Given the description of an element on the screen output the (x, y) to click on. 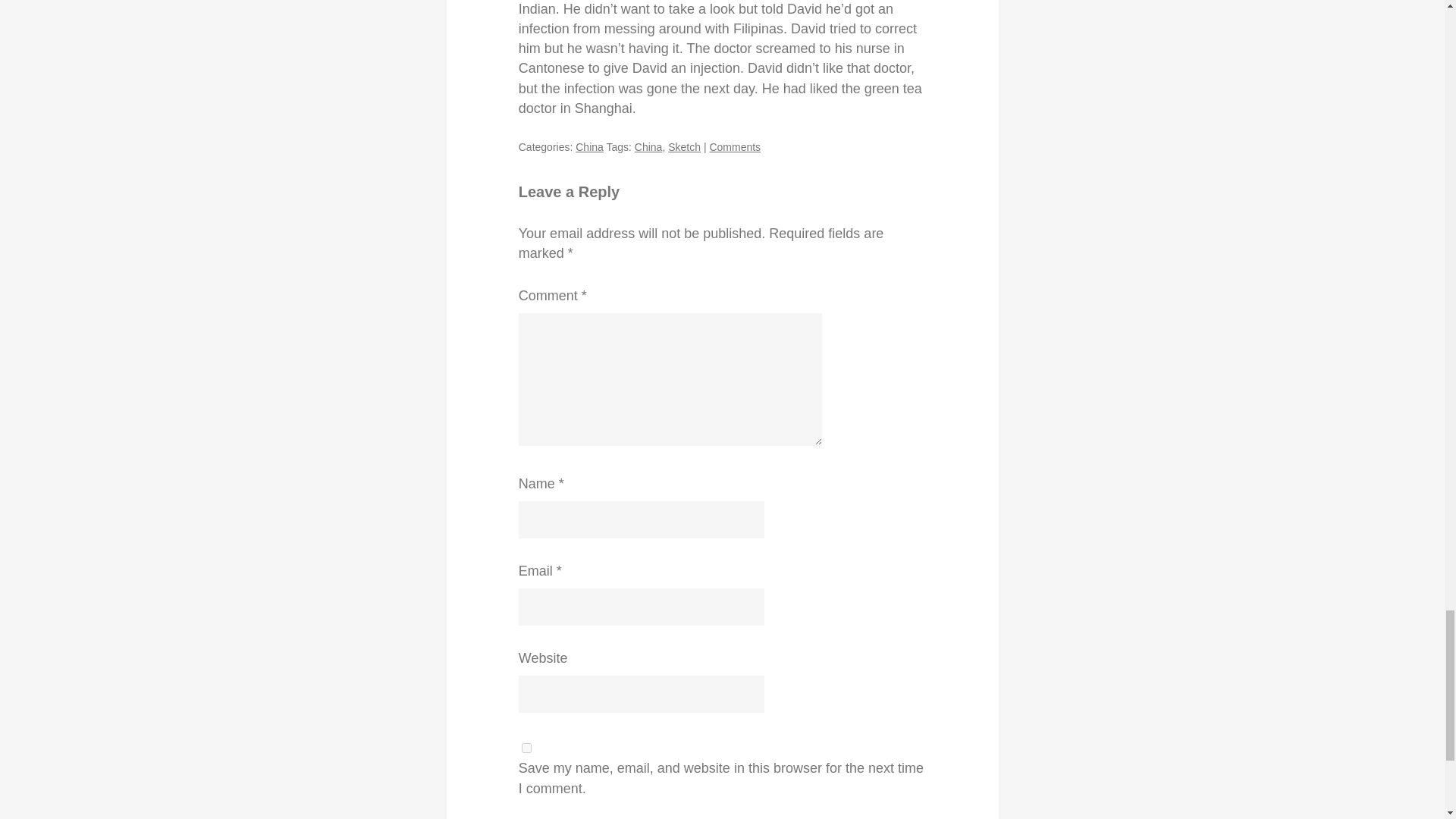
yes (526, 747)
Comments (734, 146)
China (648, 146)
China (589, 146)
Sketch (684, 146)
